Given the description of an element on the screen output the (x, y) to click on. 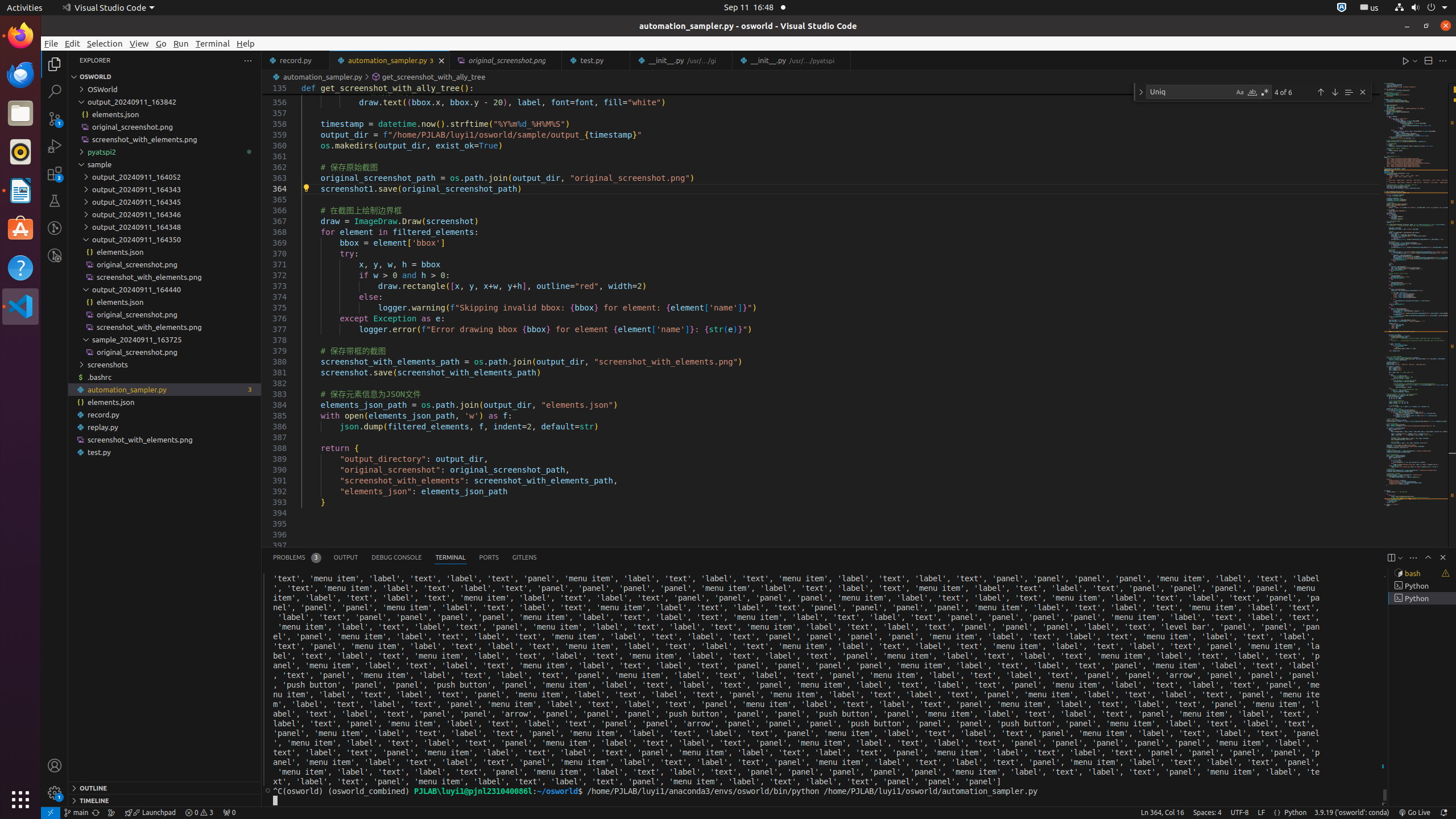
Run and Debug (Ctrl+Shift+D) Element type: page-tab (54, 145)
New Terminal (Ctrl+Shift+`) [Alt] Split Terminal (Ctrl+Shift+5) Element type: push-button (1390, 557)
Hide Panel Element type: push-button (1442, 557)
